Given the description of an element on the screen output the (x, y) to click on. 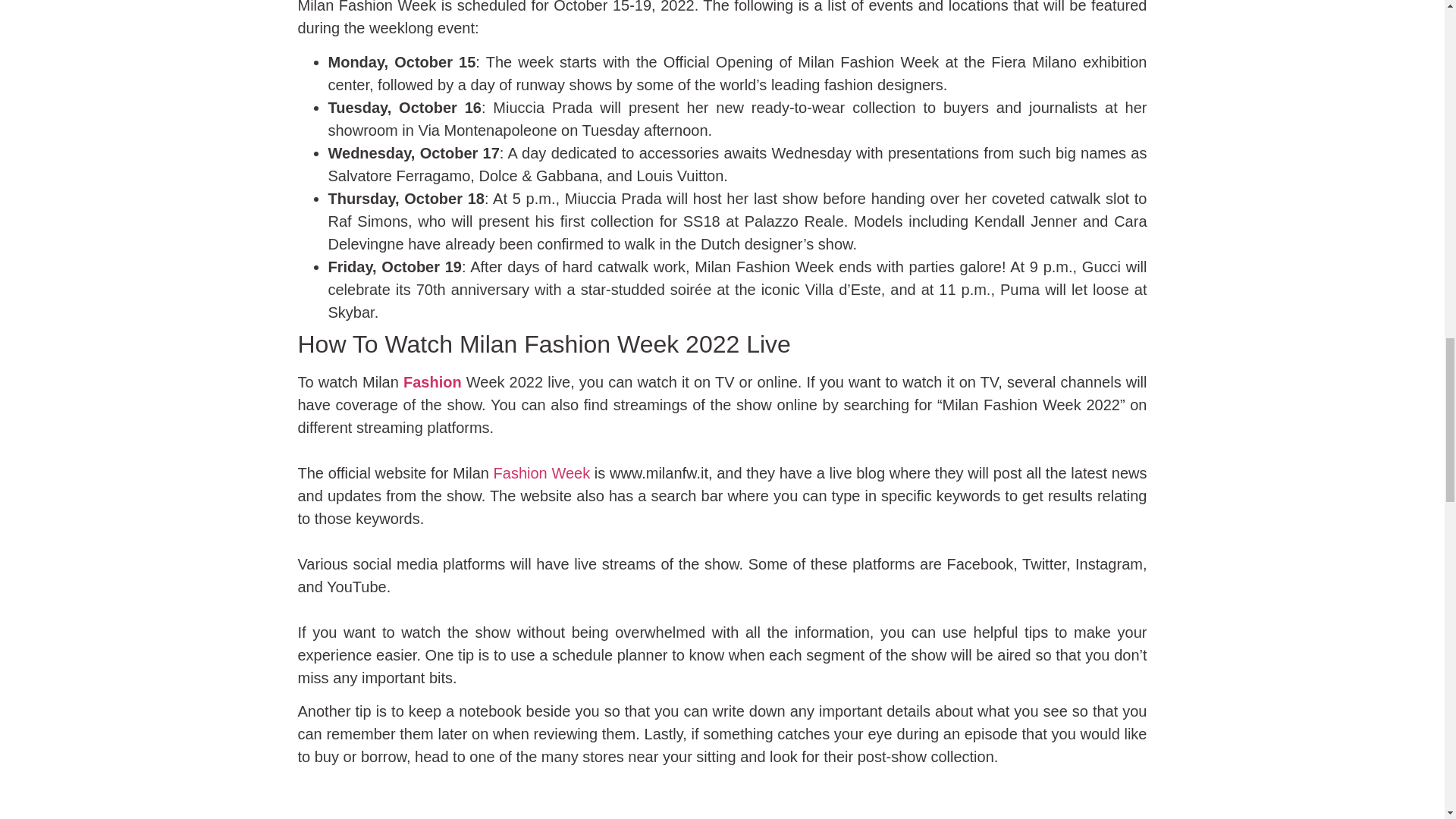
Fashion (432, 381)
Fashion Week (542, 473)
